Given the description of an element on the screen output the (x, y) to click on. 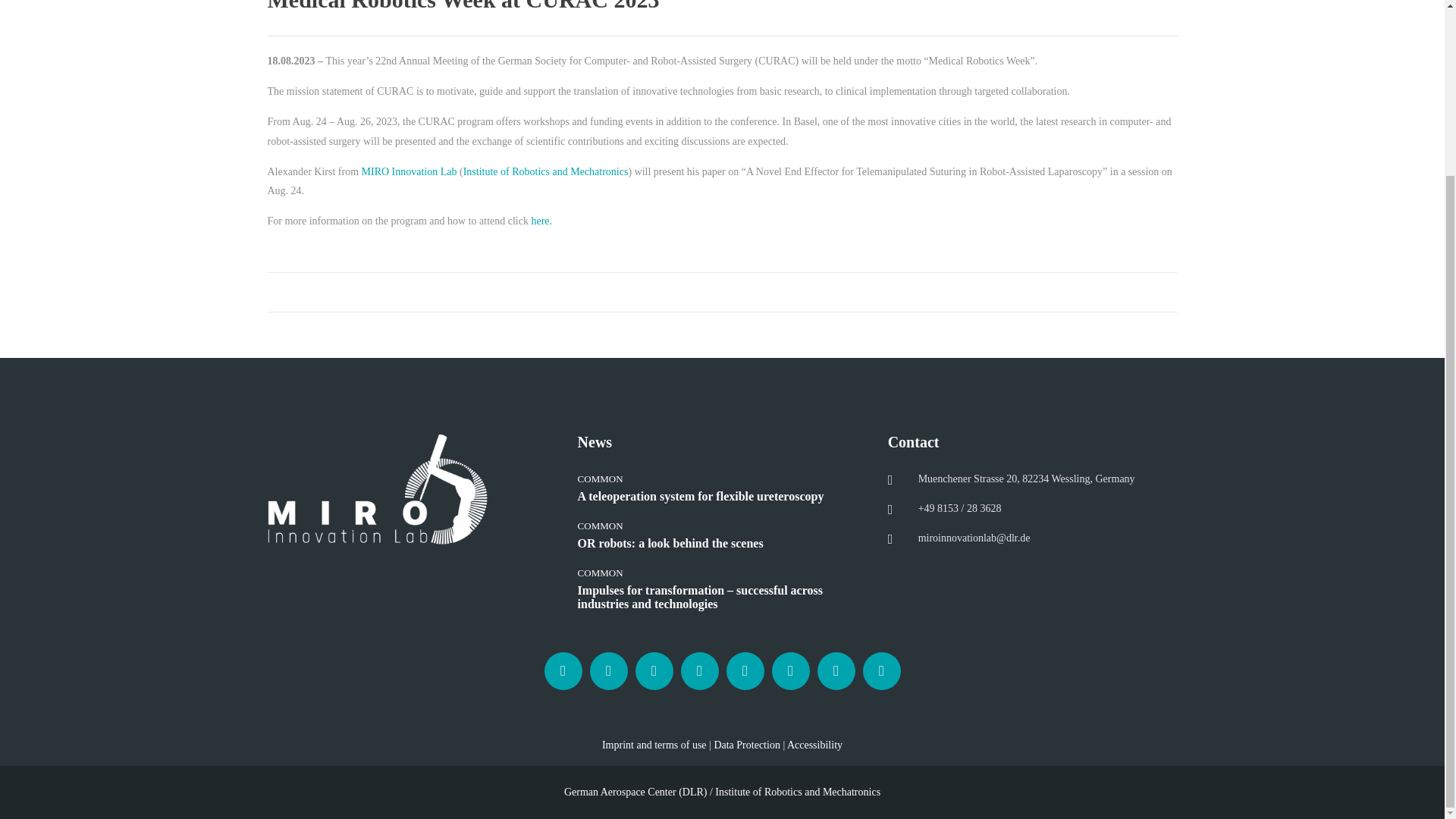
Institute of Robotics and Mechatronics (545, 171)
A teleoperation system for flexible ureteroscopy (722, 503)
COMMON (600, 572)
COMMON (600, 525)
COMMON (600, 478)
here. (541, 220)
MIRO Innovation Lab (409, 171)
Medical Robotics Week at CURAC 2023 (721, 6)
OR robots: a look behind the scenes (722, 550)
